Given the description of an element on the screen output the (x, y) to click on. 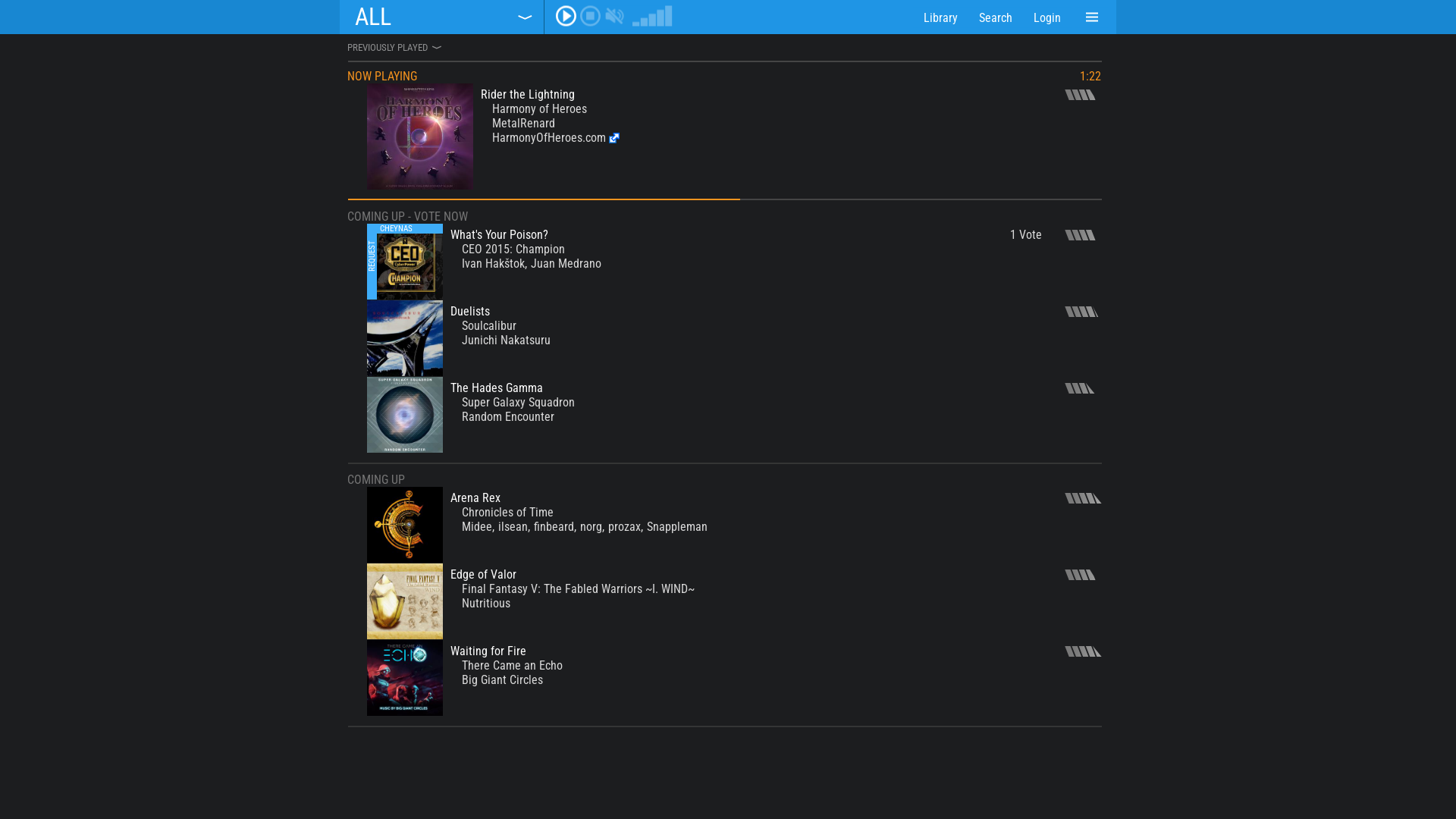
MetalRenard Element type: text (523, 123)
Login Element type: text (1047, 16)
CHEYNAS Element type: text (395, 228)
Soulcalibur Element type: text (488, 325)
Library Element type: text (940, 16)
Midee Element type: text (476, 526)
ilsean Element type: text (512, 526)
norg Element type: text (591, 526)
Search Element type: text (995, 16)
Harmony of Heroes Element type: text (539, 108)
HarmonyOfHeroes.com Element type: text (555, 137)
Snappleman Element type: text (676, 526)
Random Encounter Element type: text (507, 416)
Big Giant Circles Element type: text (501, 679)
prozax Element type: text (624, 526)
finbeard Element type: text (553, 526)
Final Fantasy V: The Fabled Warriors ~I. WIND~ Element type: text (577, 588)
Nutritious Element type: text (485, 603)
Juan Medrano Element type: text (565, 263)
Super Galaxy Squadron Element type: text (517, 402)
CEO 2015: Champion Element type: text (512, 248)
Chronicles of Time Element type: text (507, 512)
Junichi Nakatsuru Element type: text (505, 339)
There Came an Echo Element type: text (511, 665)
